Given the description of an element on the screen output the (x, y) to click on. 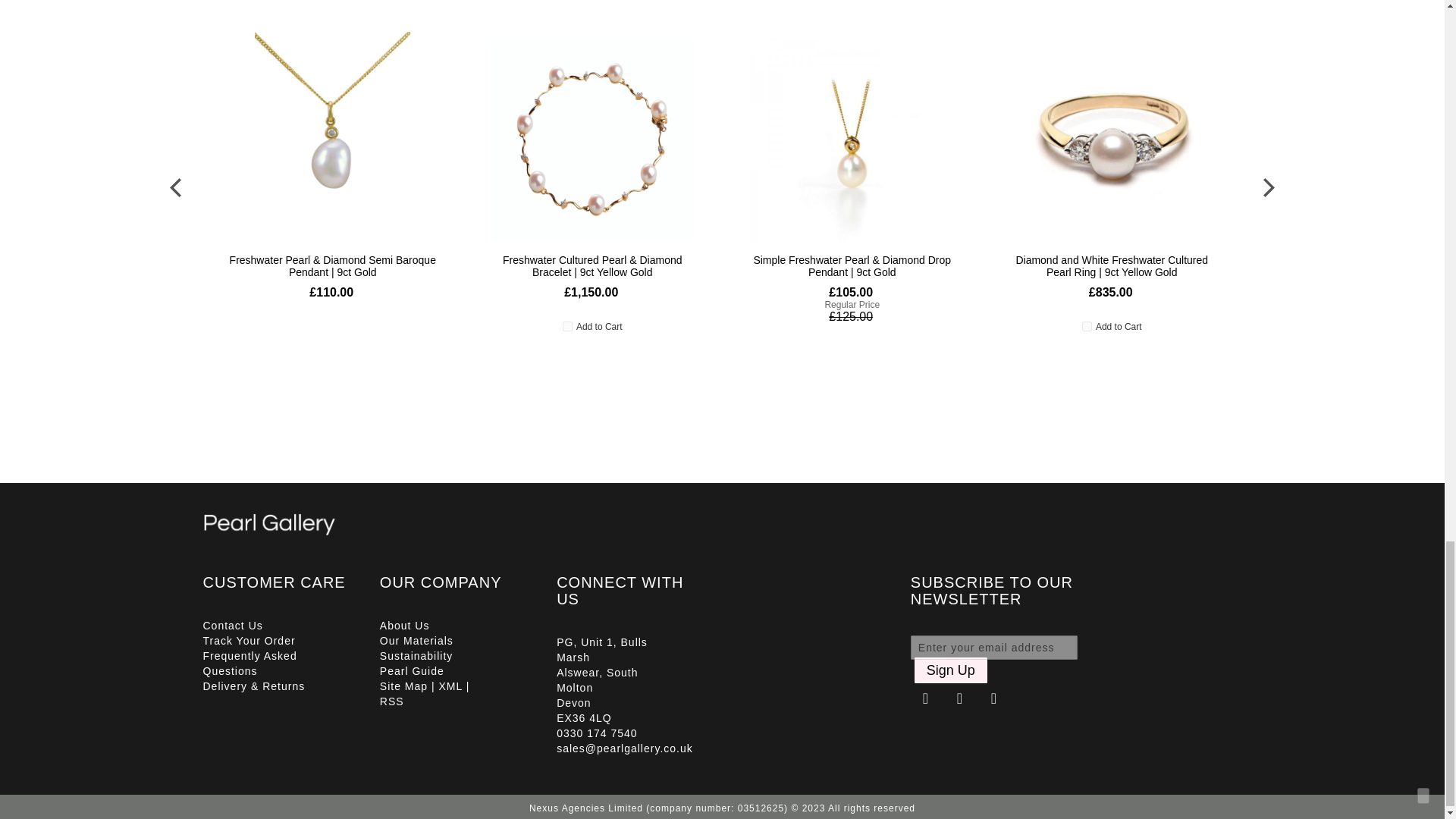
394 (1086, 326)
313 (567, 326)
